Given the description of an element on the screen output the (x, y) to click on. 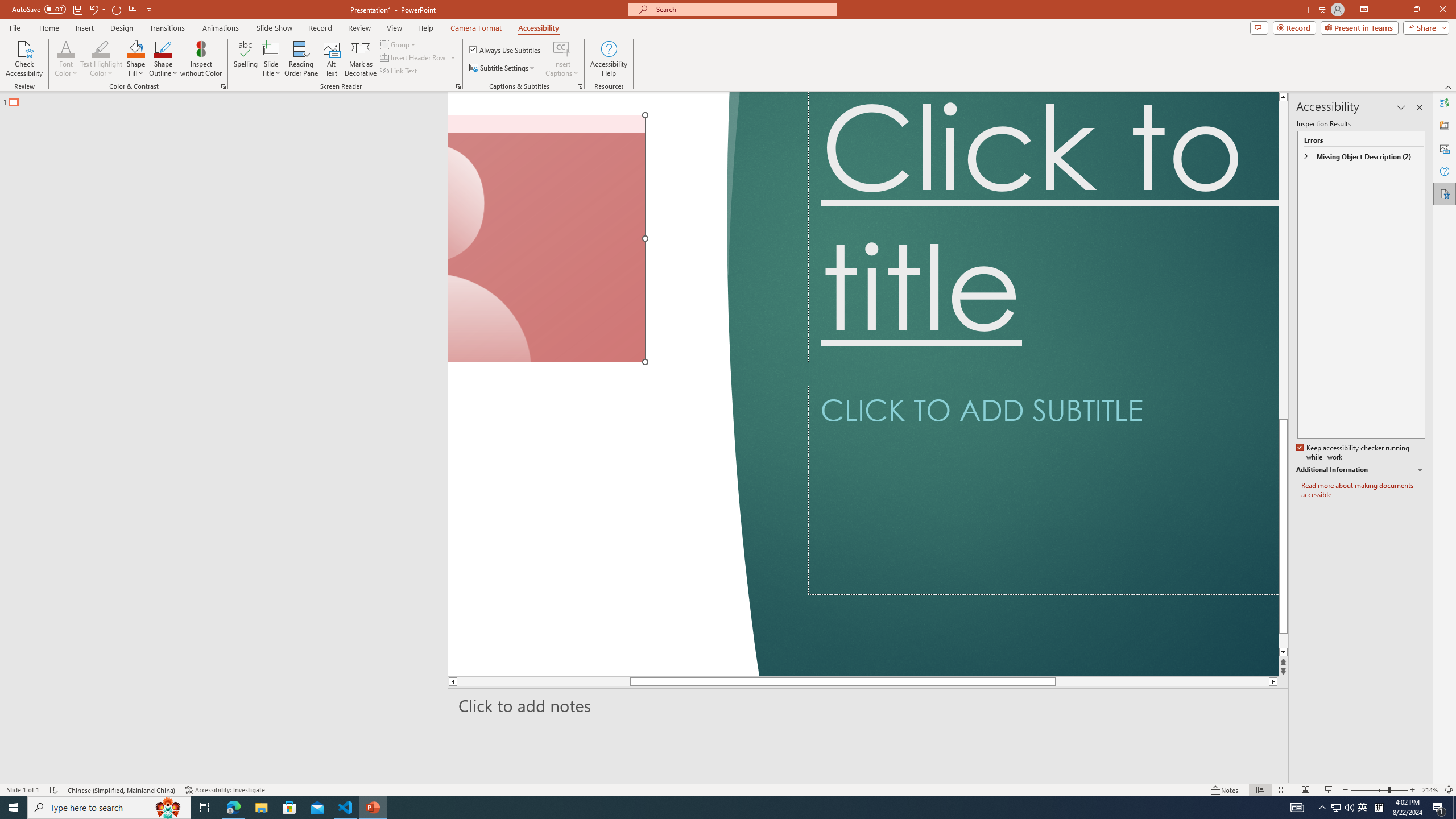
Spelling... (245, 58)
Color & Contrast (223, 85)
Slide Title (271, 48)
Subtitle Settings (502, 67)
Outline (227, 99)
